Given the description of an element on the screen output the (x, y) to click on. 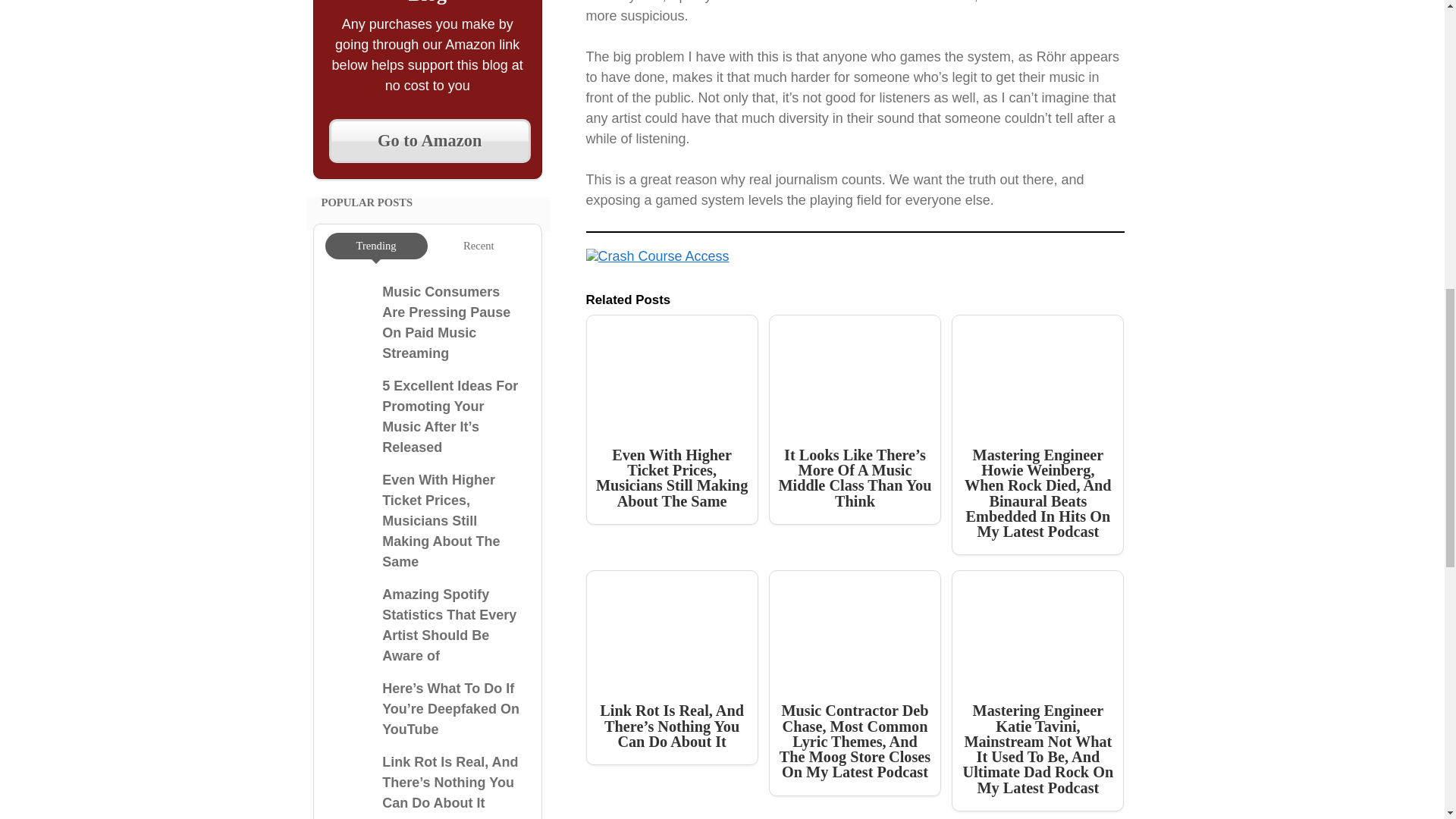
Recent (479, 245)
Trending (376, 245)
Go to Amazon (430, 140)
Music Consumers Are Pressing Pause On Paid Music Streaming (446, 322)
